Given the description of an element on the screen output the (x, y) to click on. 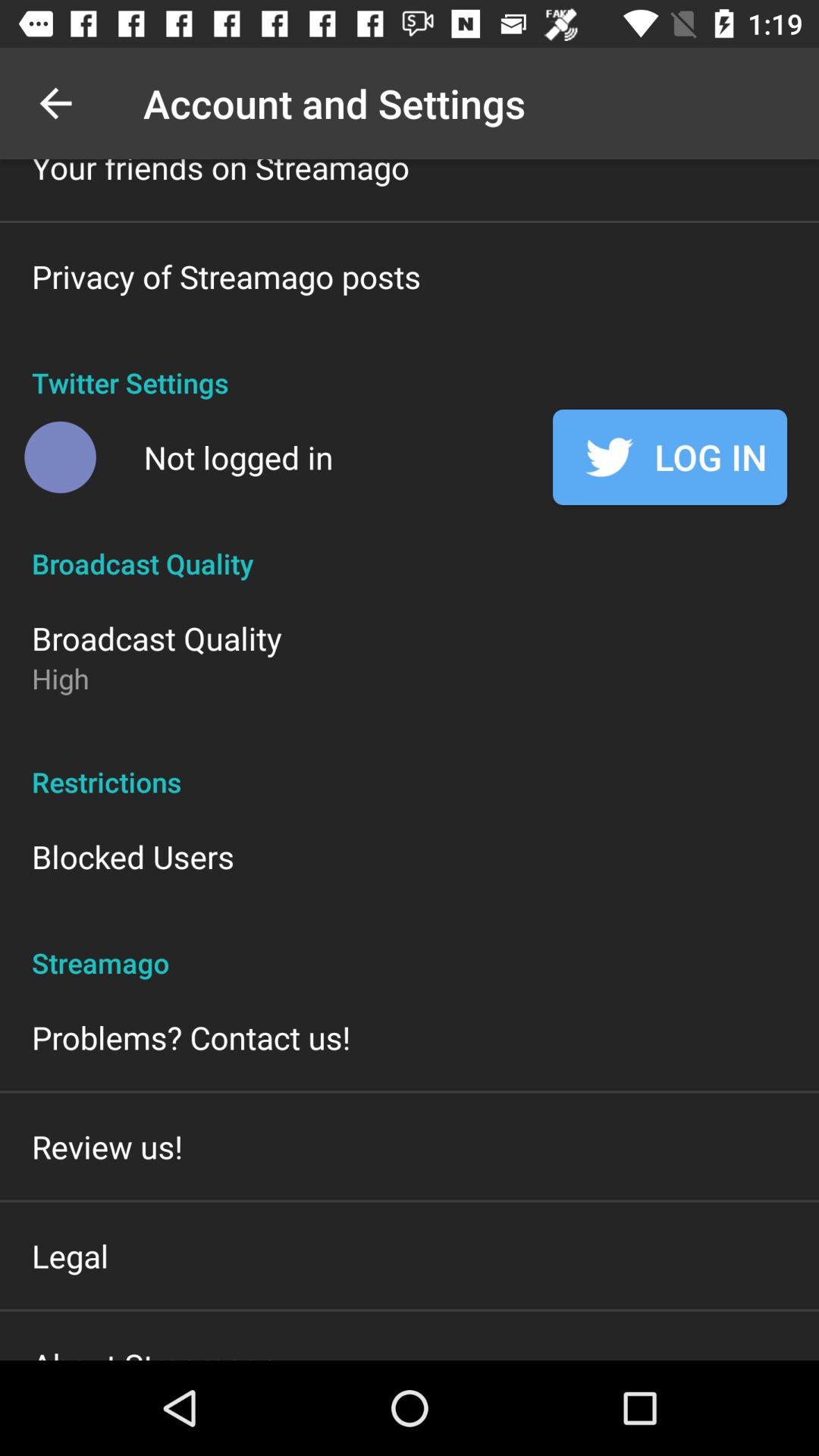
turn off the log in item (669, 457)
